Given the description of an element on the screen output the (x, y) to click on. 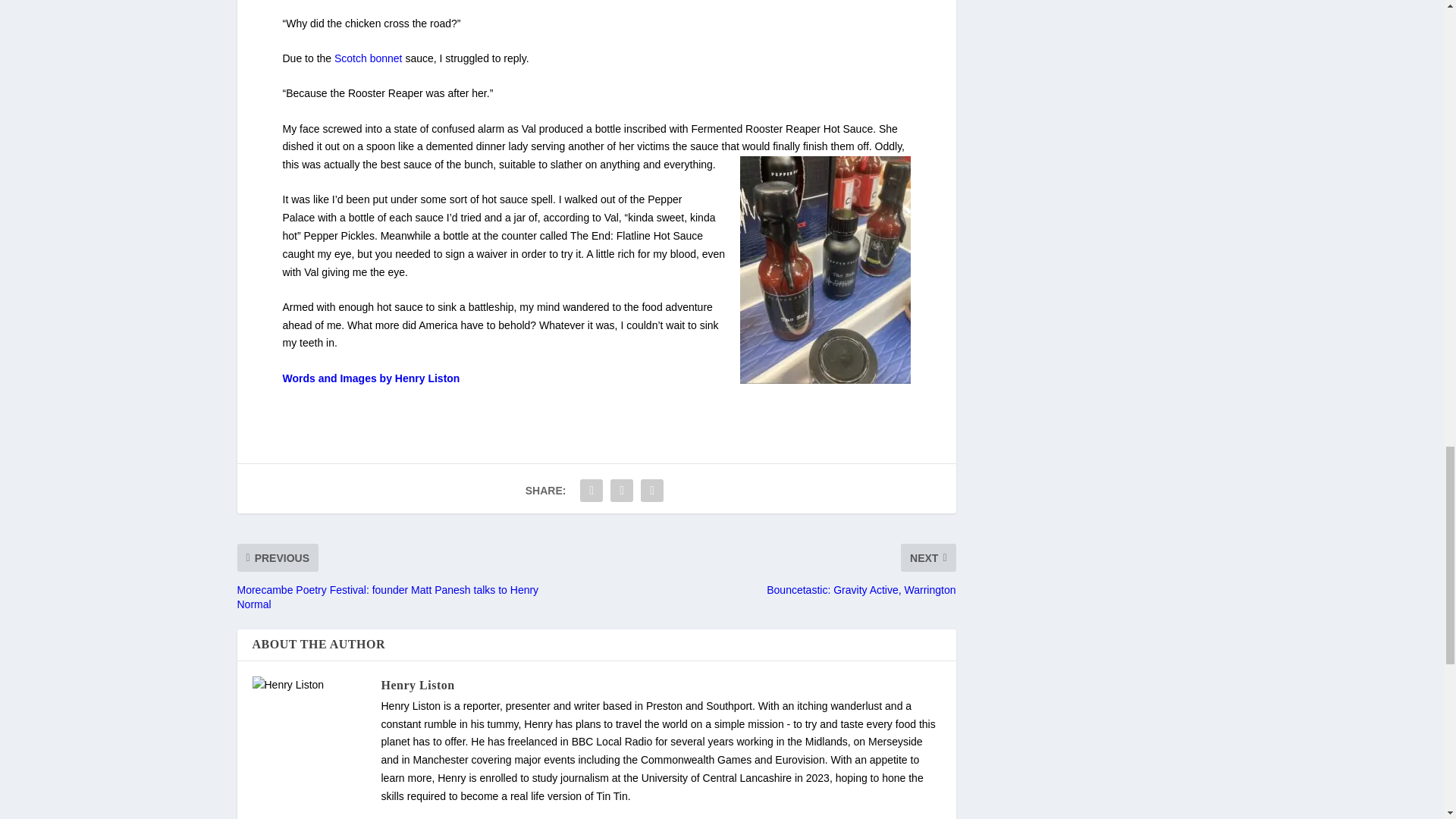
Scotch bonnet (366, 58)
Words and Images by Henry Liston (371, 378)
View all posts by Henry Liston (417, 684)
Henry Liston (417, 684)
